Given the description of an element on the screen output the (x, y) to click on. 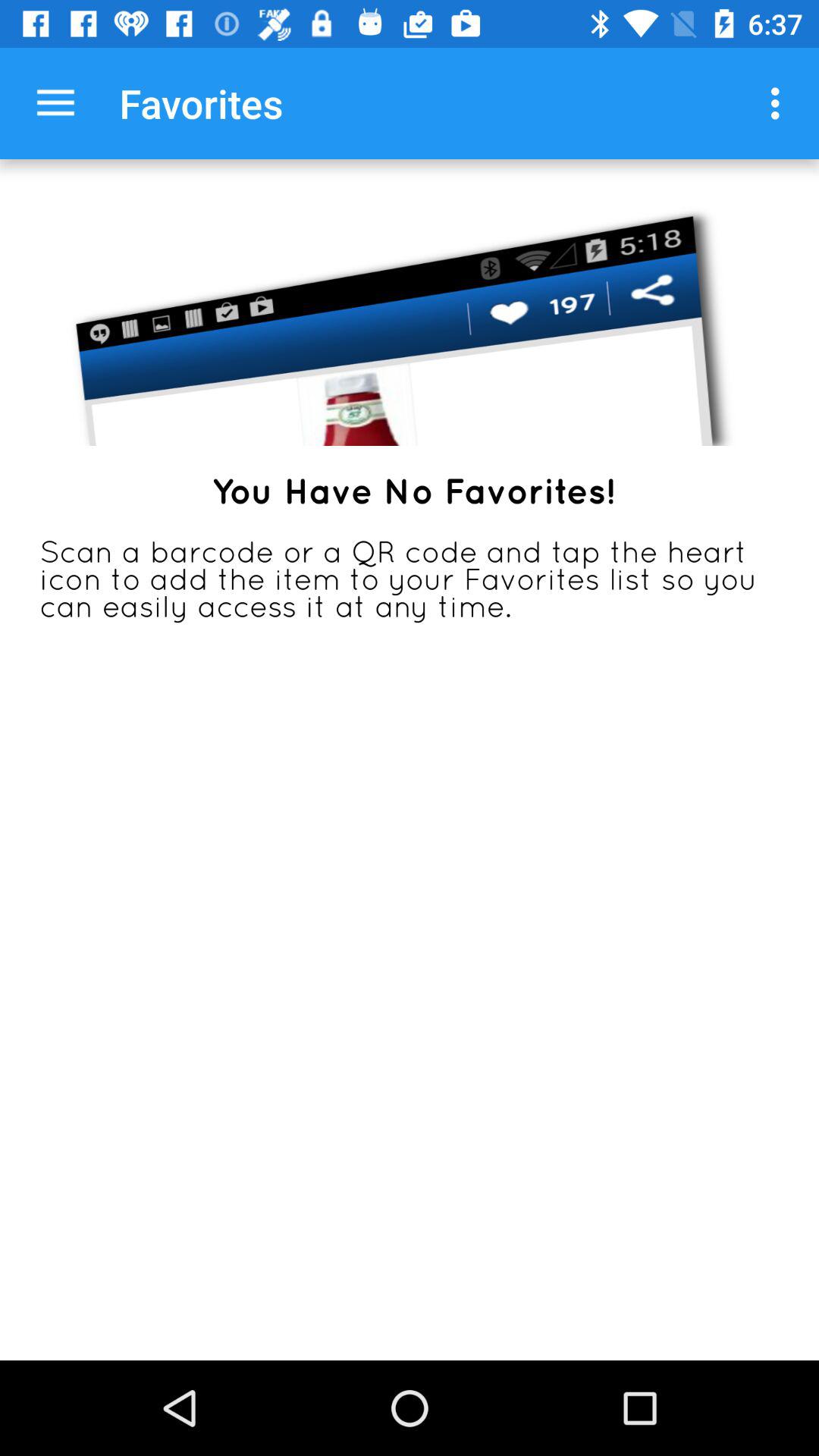
turn off item next to favorites item (779, 103)
